Given the description of an element on the screen output the (x, y) to click on. 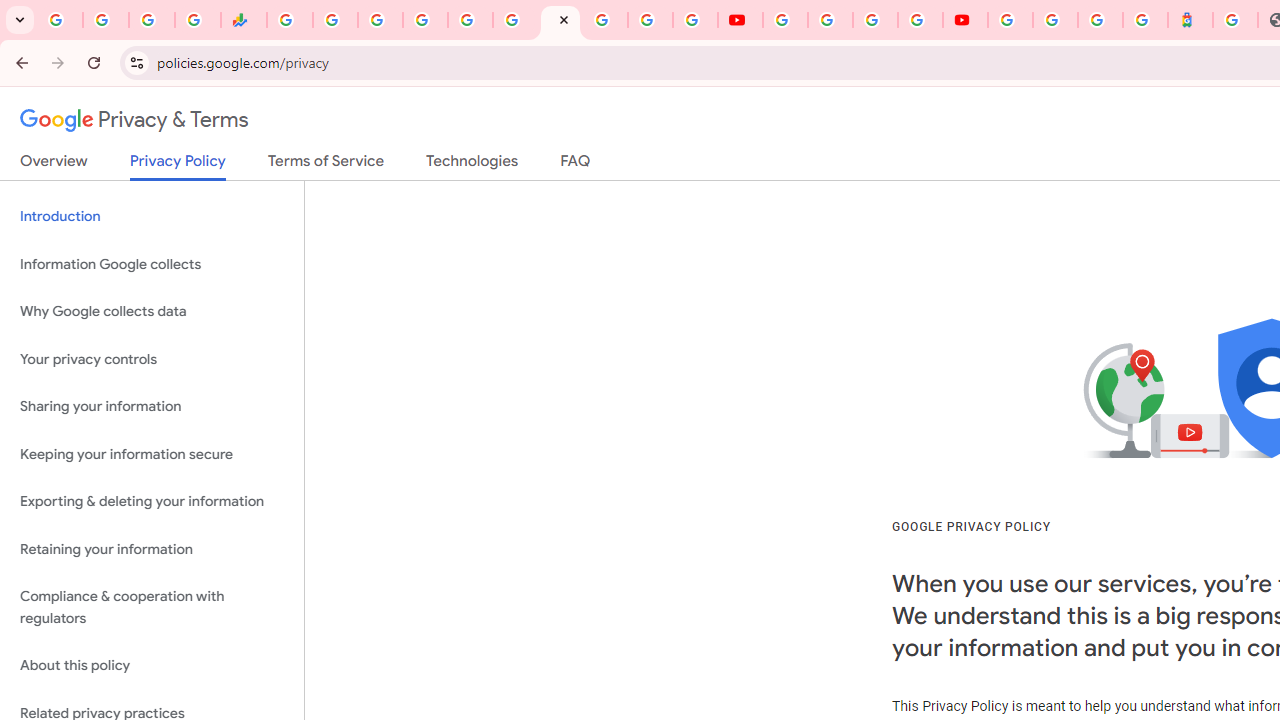
Sharing your information (152, 407)
Sign in - Google Accounts (425, 20)
Information Google collects (152, 263)
Sign in - Google Accounts (1055, 20)
